Given the description of an element on the screen output the (x, y) to click on. 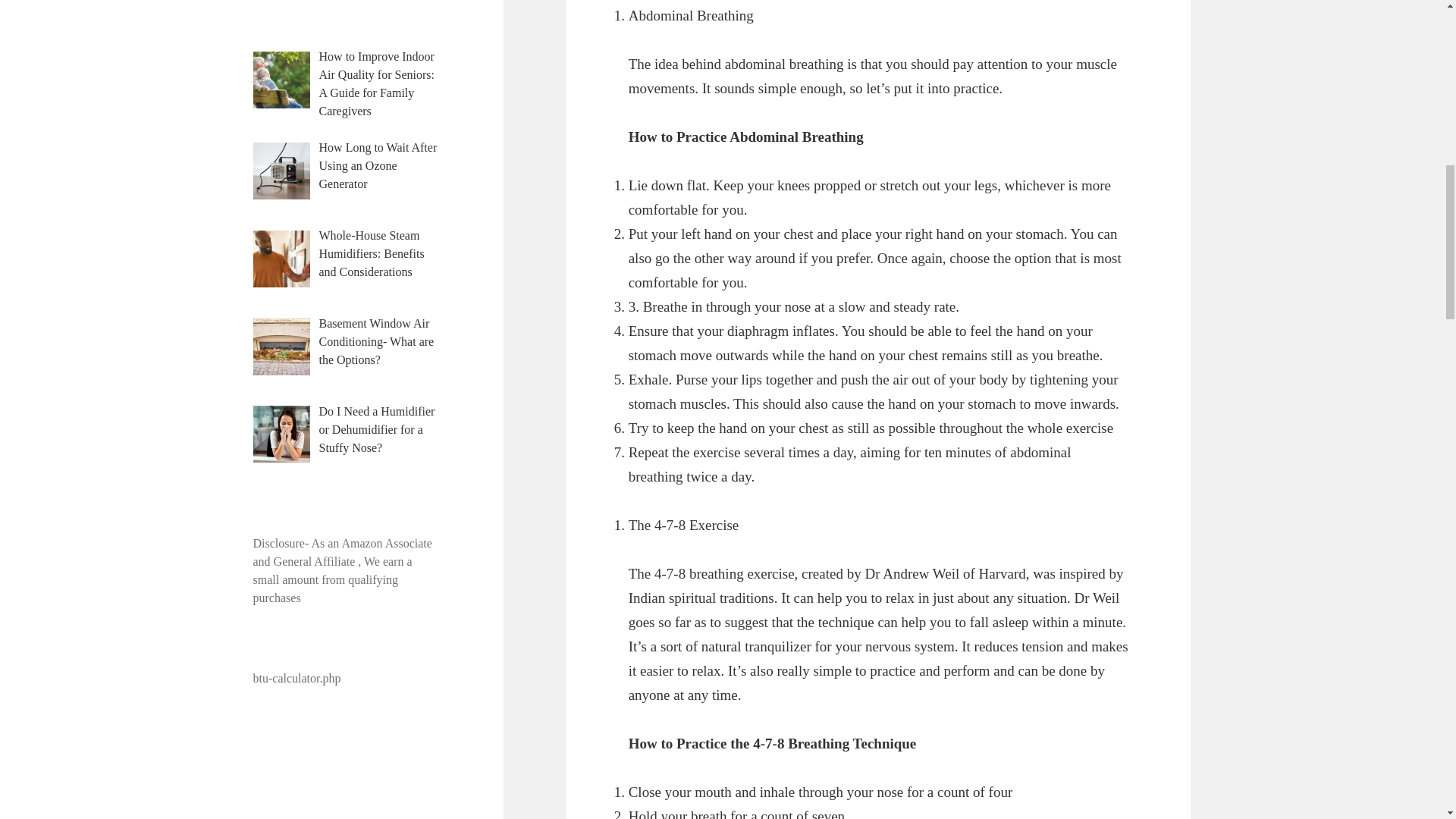
Whole-House Steam Humidifiers: Benefits and Considerations (371, 253)
Do I Need a Humidifier or Dehumidifier for a Stuffy Nose? (376, 429)
Basement Window Air Conditioning- What are the Options? (375, 341)
How Long to Wait After Using an Ozone Generator (378, 165)
